Given the description of an element on the screen output the (x, y) to click on. 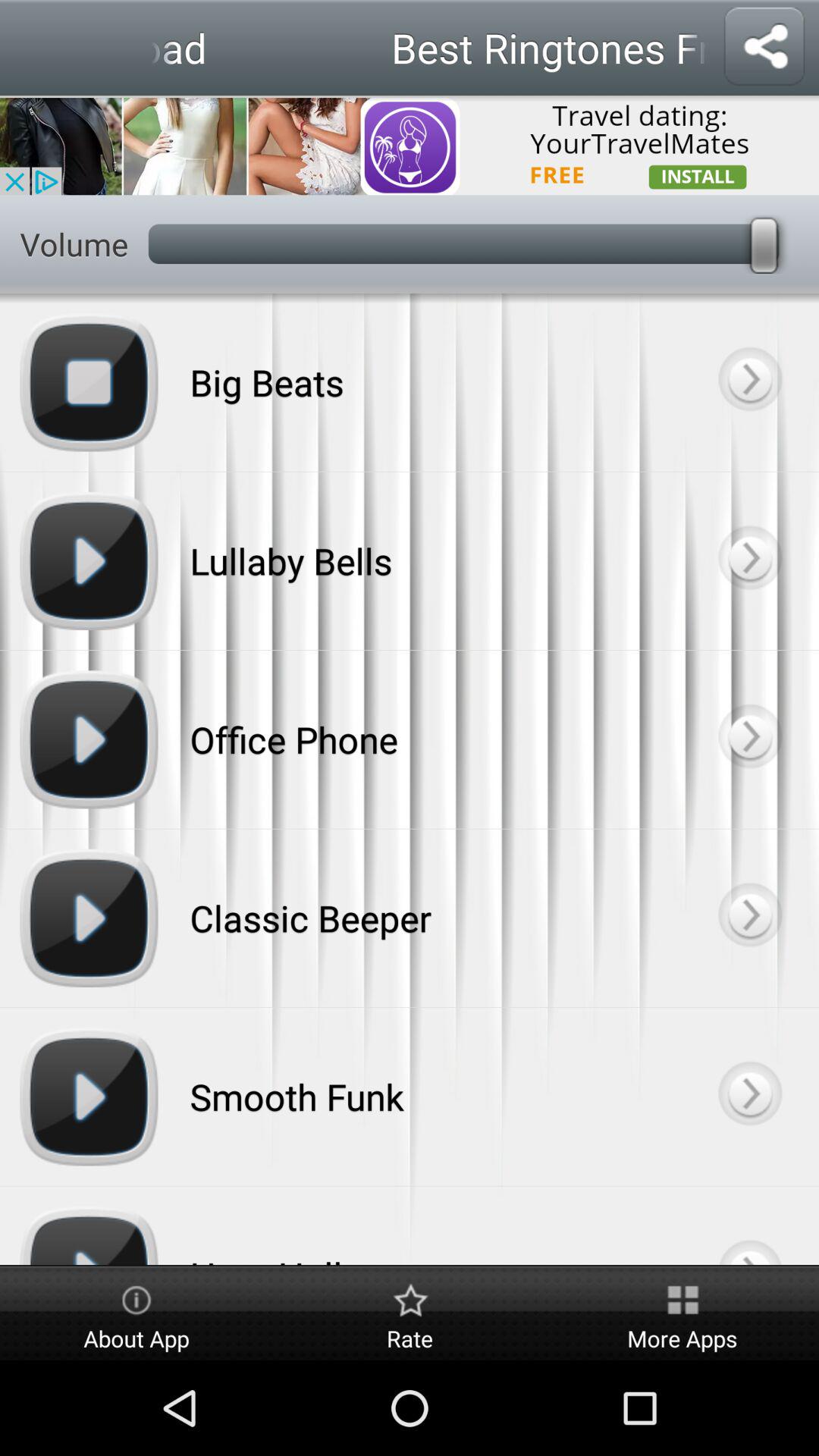
dating app advertisement (409, 145)
